Given the description of an element on the screen output the (x, y) to click on. 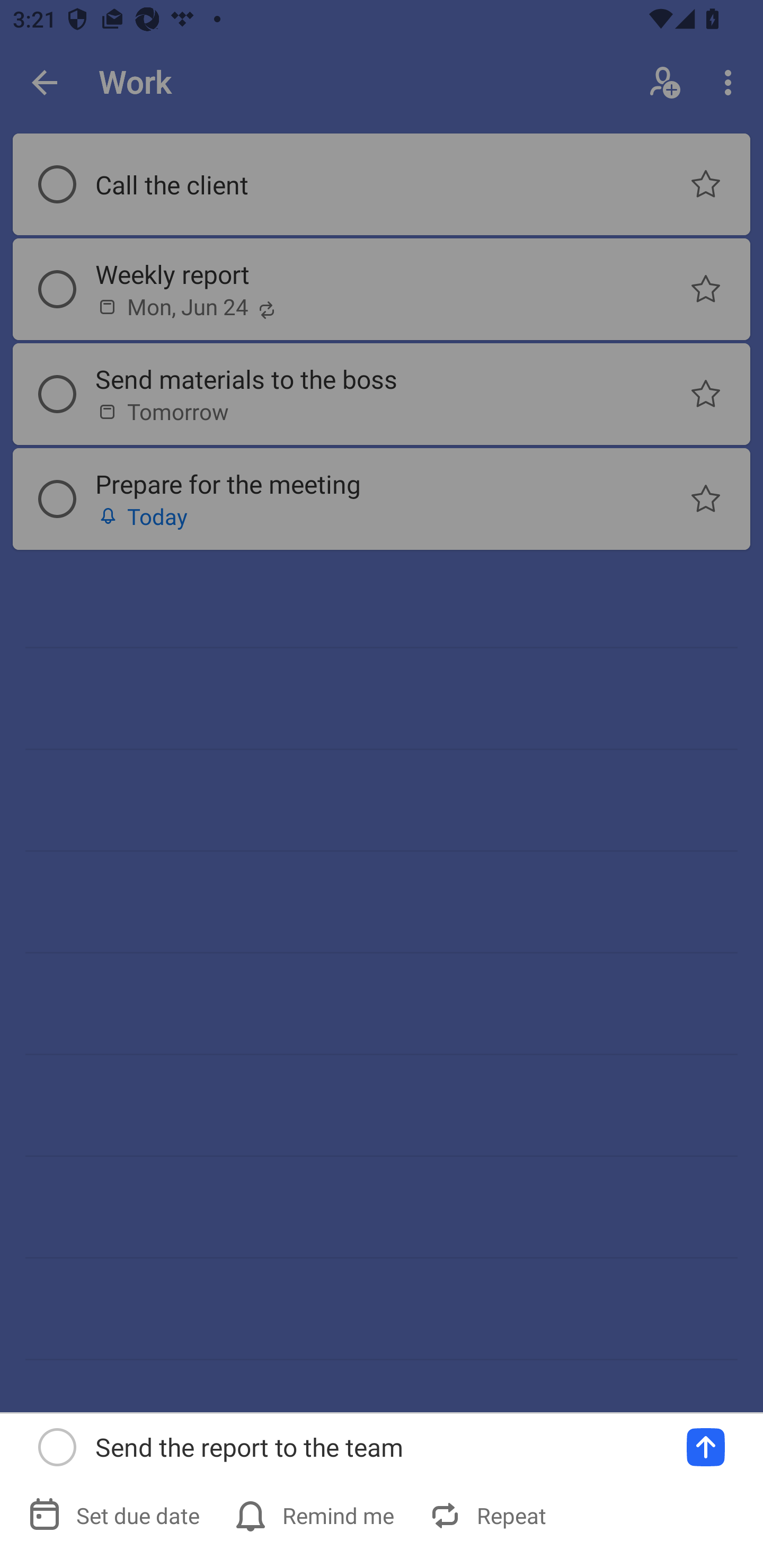
Set due date (115, 1515)
